Given the description of an element on the screen output the (x, y) to click on. 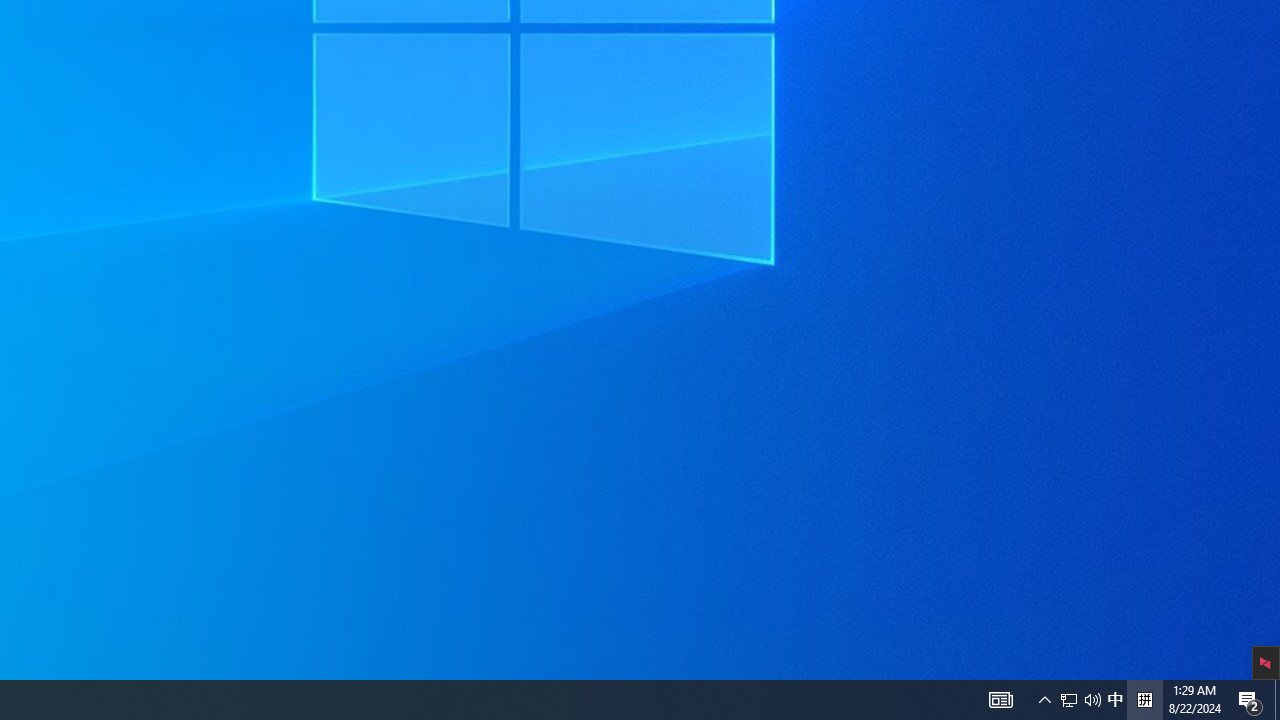
User Promoted Notification Area (1080, 699)
Q2790: 100% (1115, 699)
Notification Chevron (1092, 699)
Tray Input Indicator - Chinese (Simplified, China) (1044, 699)
AutomationID: 4105 (1144, 699)
Show desktop (1000, 699)
Action Center, 2 new notifications (1277, 699)
